Given the description of an element on the screen output the (x, y) to click on. 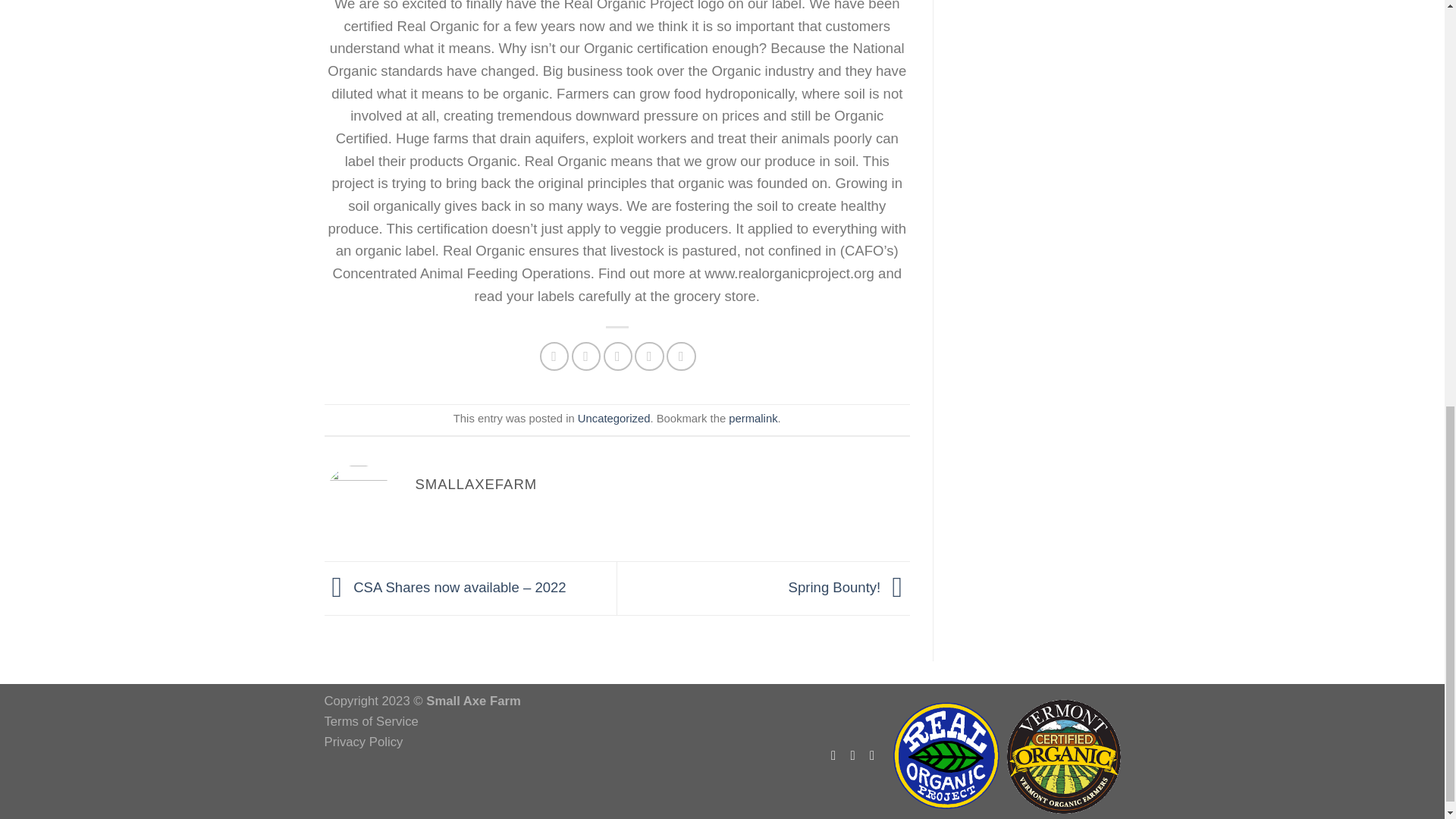
Pin on Pinterest (648, 356)
Follow on Instagram (856, 755)
Uncategorized (614, 418)
Send us an email (875, 755)
Email to a Friend (617, 356)
Share on Facebook (554, 356)
Share on Twitter (585, 356)
Share on LinkedIn (680, 356)
Follow on Facebook (837, 755)
